Given the description of an element on the screen output the (x, y) to click on. 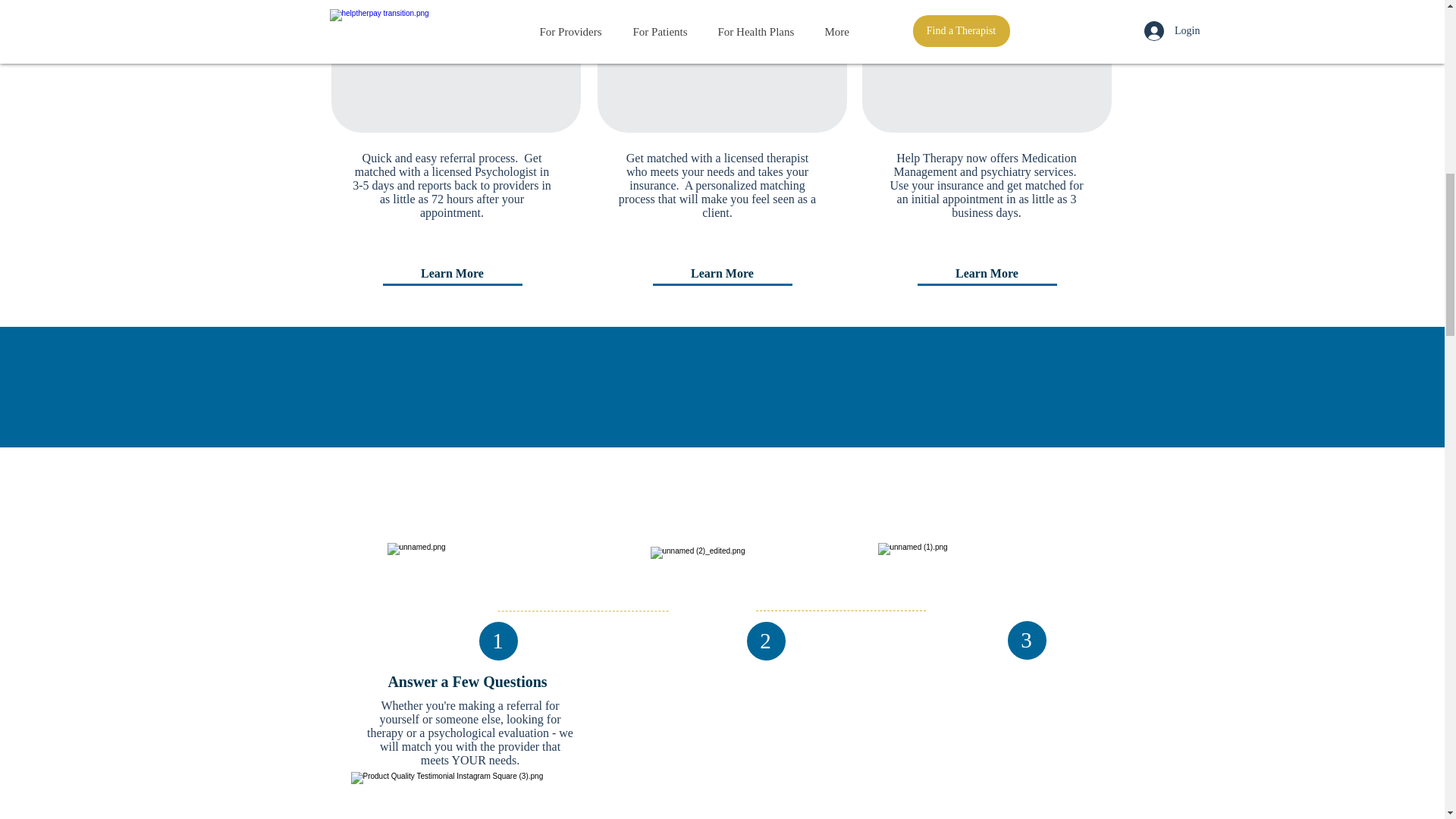
Learn More (451, 273)
Learn More (722, 273)
Answer a Few Questions (467, 681)
Learn More (987, 273)
